Given the description of an element on the screen output the (x, y) to click on. 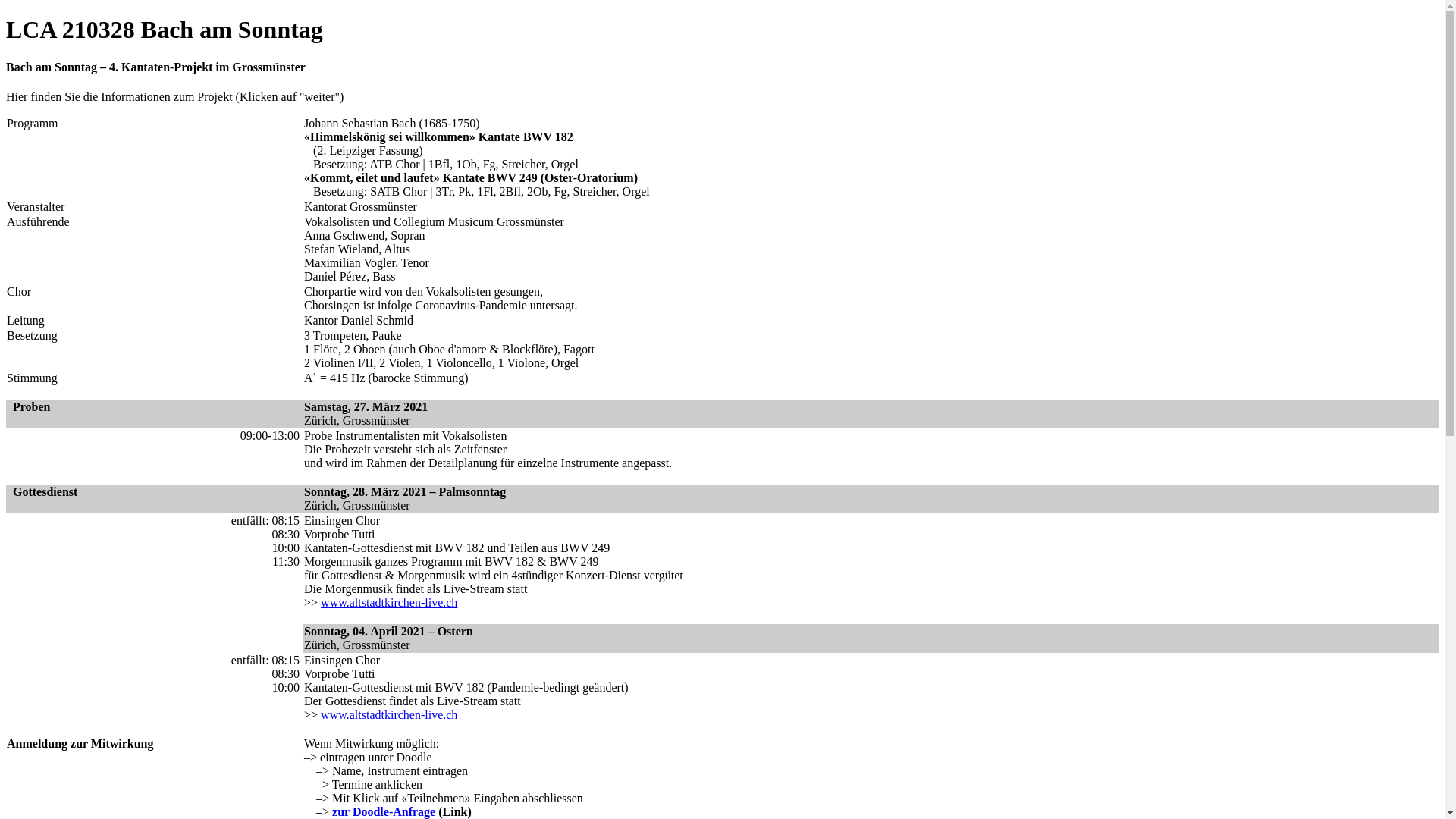
www.altstadtkirchen-live.ch Element type: text (388, 714)
www.altstadtkirchen-live.ch Element type: text (388, 602)
zur Doodle-Anfrage Element type: text (383, 811)
